Given the description of an element on the screen output the (x, y) to click on. 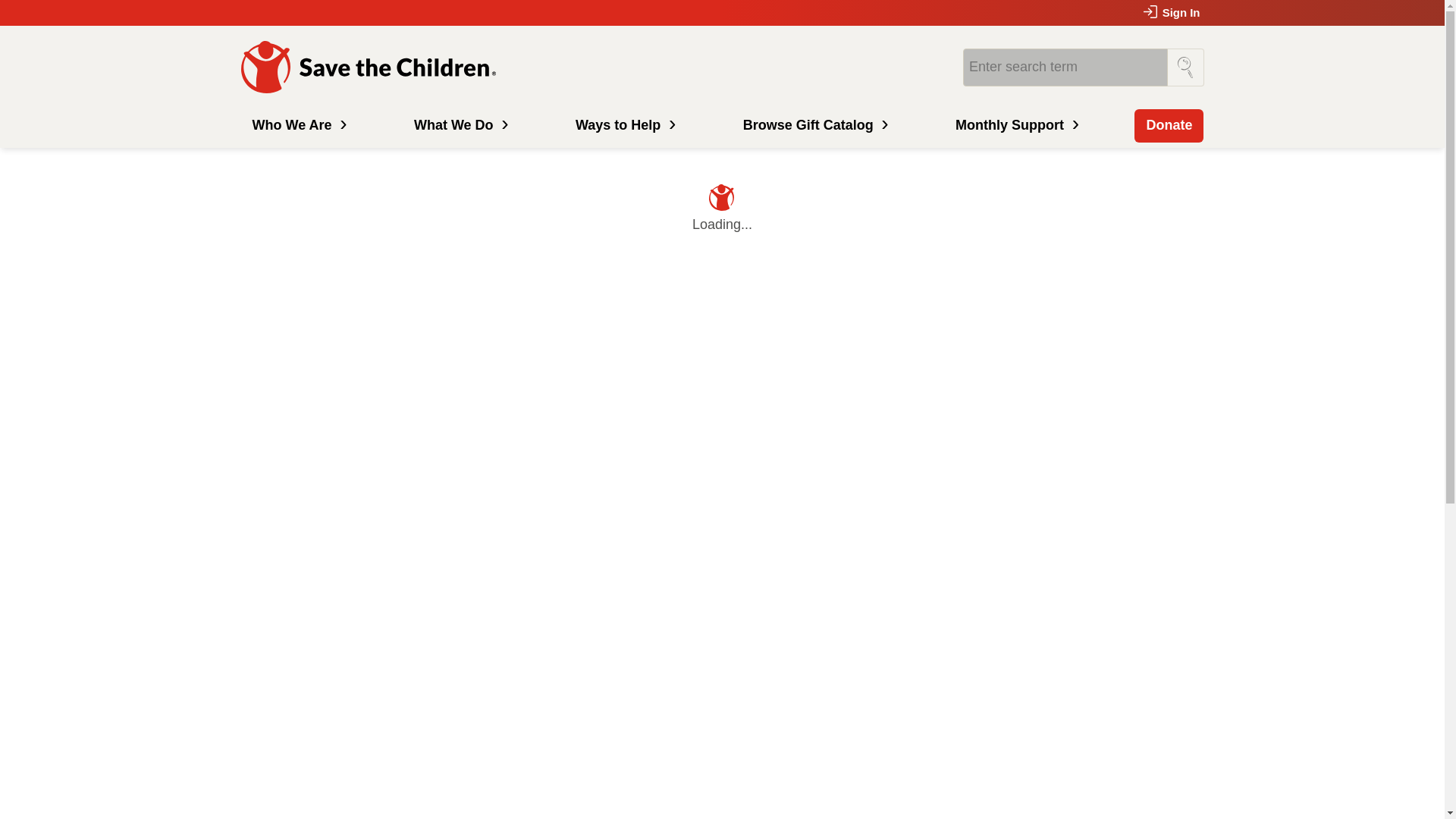
Monthly Support (1014, 125)
Ways to Help (623, 125)
Sign In (1172, 12)
What We Do (459, 125)
Click to view the homepage (370, 67)
Who We Are (298, 125)
SEARCH (1185, 67)
Browse Gift Catalog (814, 125)
